Given the description of an element on the screen output the (x, y) to click on. 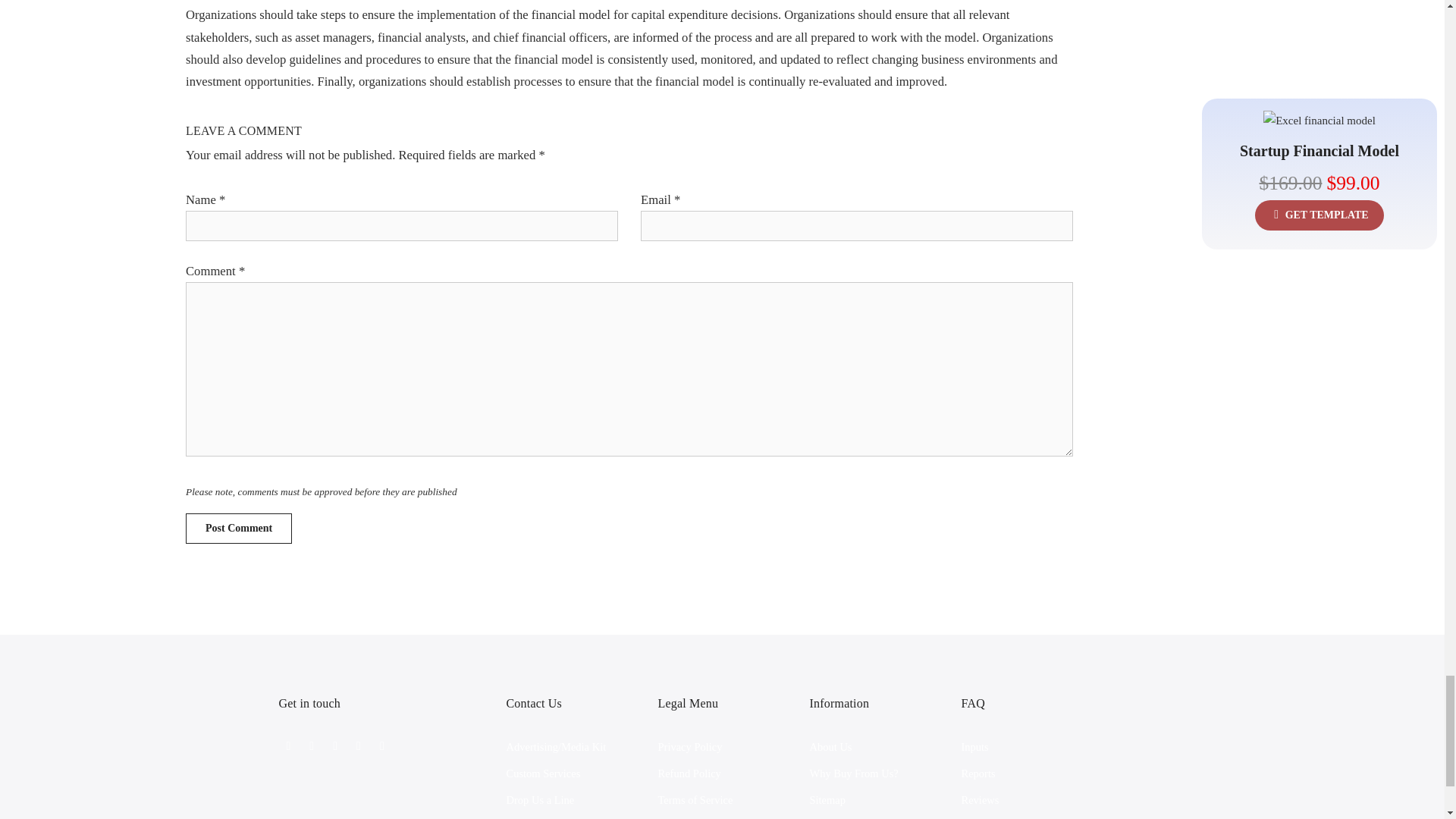
Refund Policy (689, 773)
Custom Services (543, 773)
Privacy Policy (690, 746)
Terms of Service (695, 799)
Post Comment (239, 528)
Post Comment (239, 528)
Drop Us a Line (540, 799)
